Given the description of an element on the screen output the (x, y) to click on. 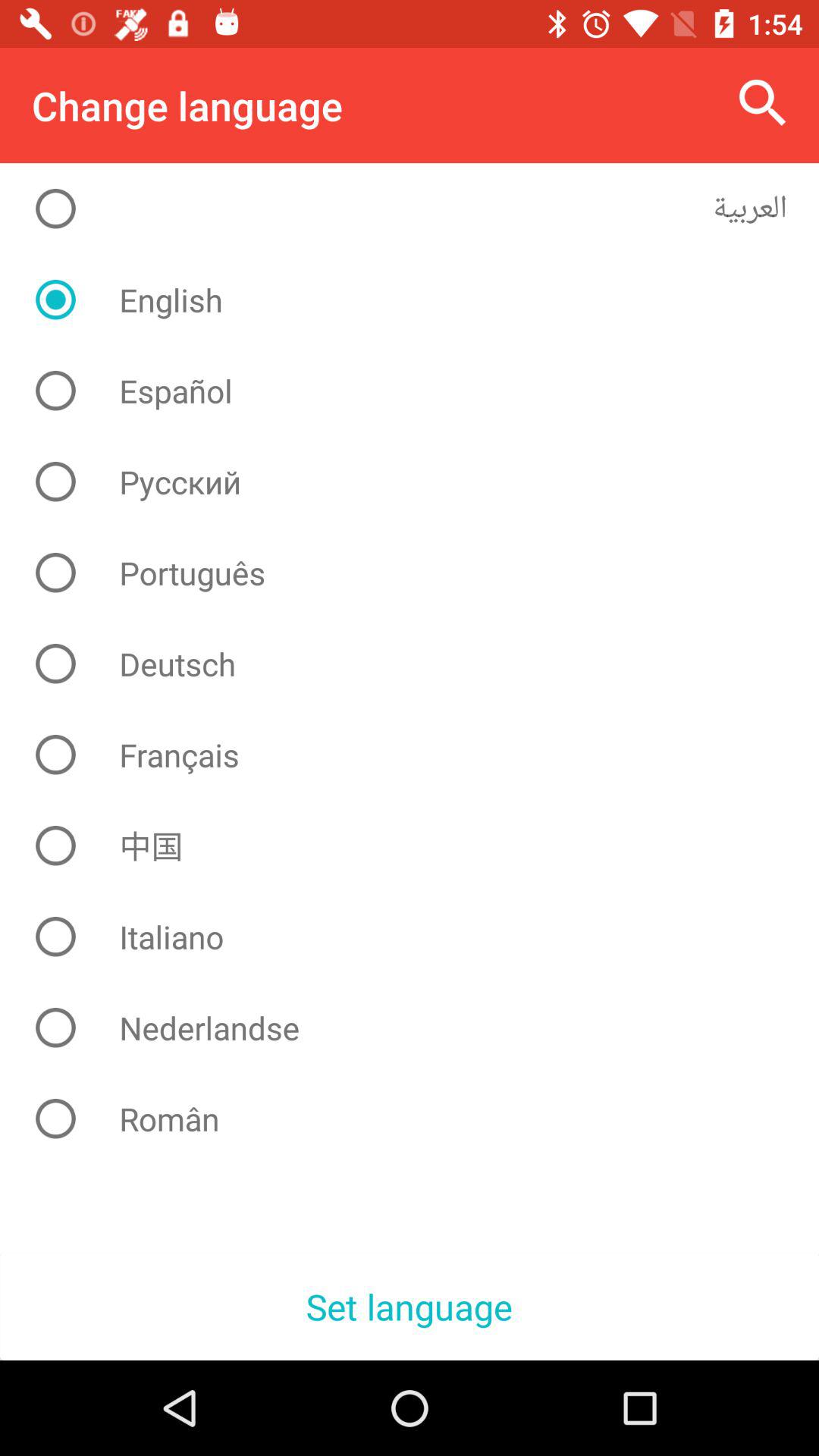
open the icon above english (421, 208)
